Given the description of an element on the screen output the (x, y) to click on. 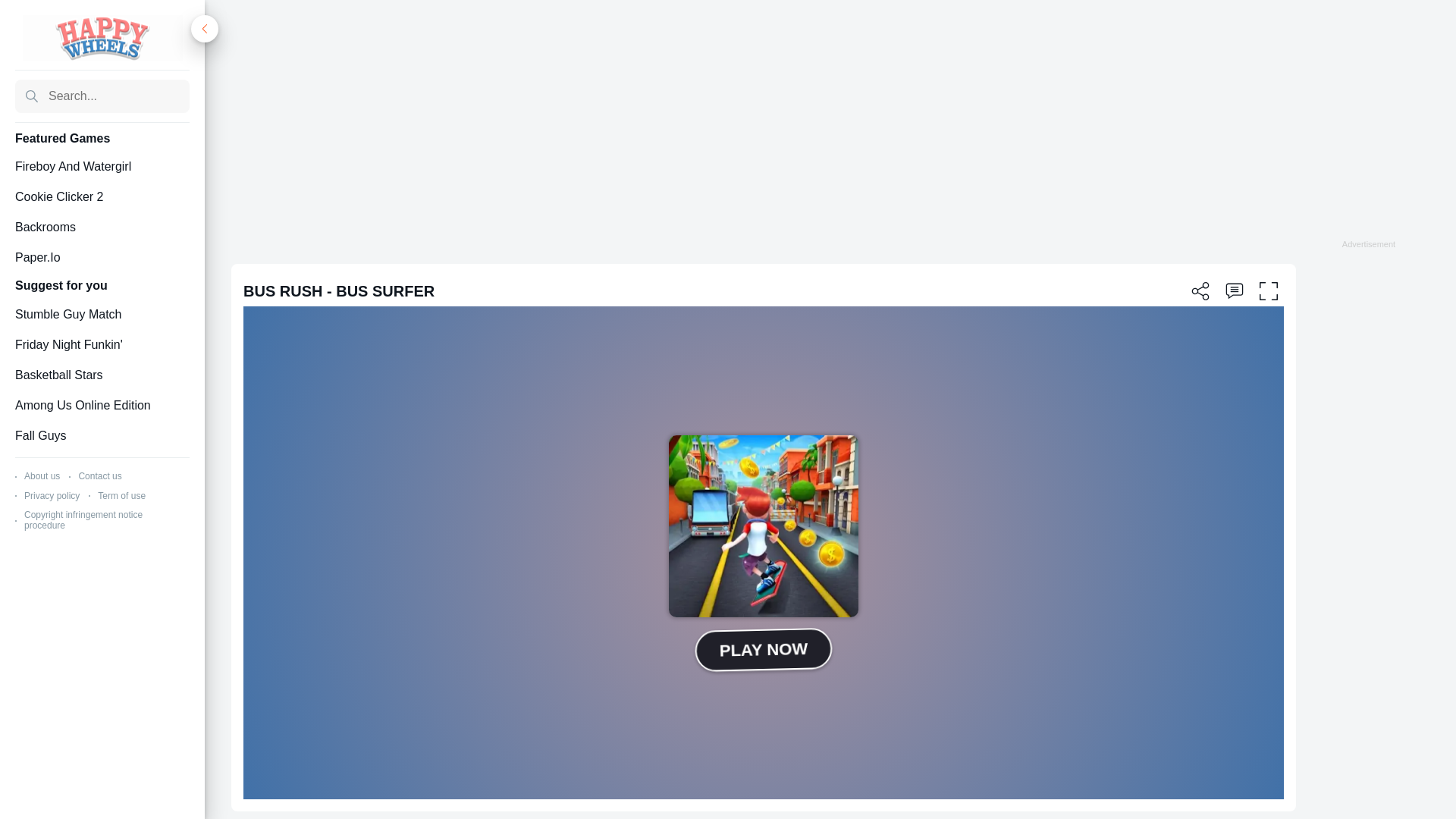
Copyright infringement notice procedure (83, 519)
About us (41, 475)
Term of use (121, 495)
Fireboy And Watergirl (101, 167)
Happy Wheels (103, 37)
Paper.Io (101, 257)
Backrooms (101, 227)
Fall Guys (101, 435)
Among Us Online Edition (101, 405)
